Given the description of an element on the screen output the (x, y) to click on. 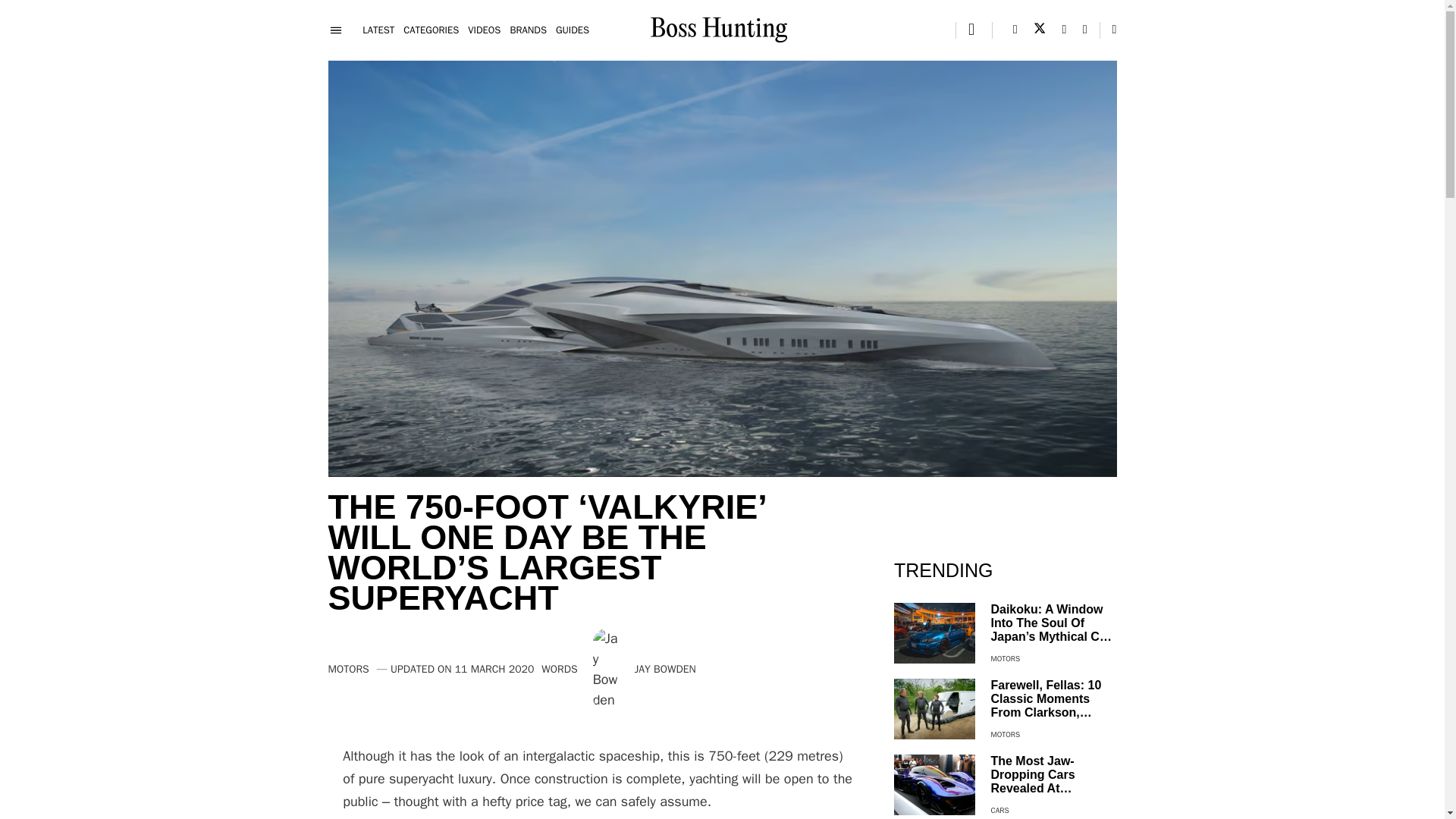
CATEGORIES (430, 30)
LATEST (378, 30)
